Given the description of an element on the screen output the (x, y) to click on. 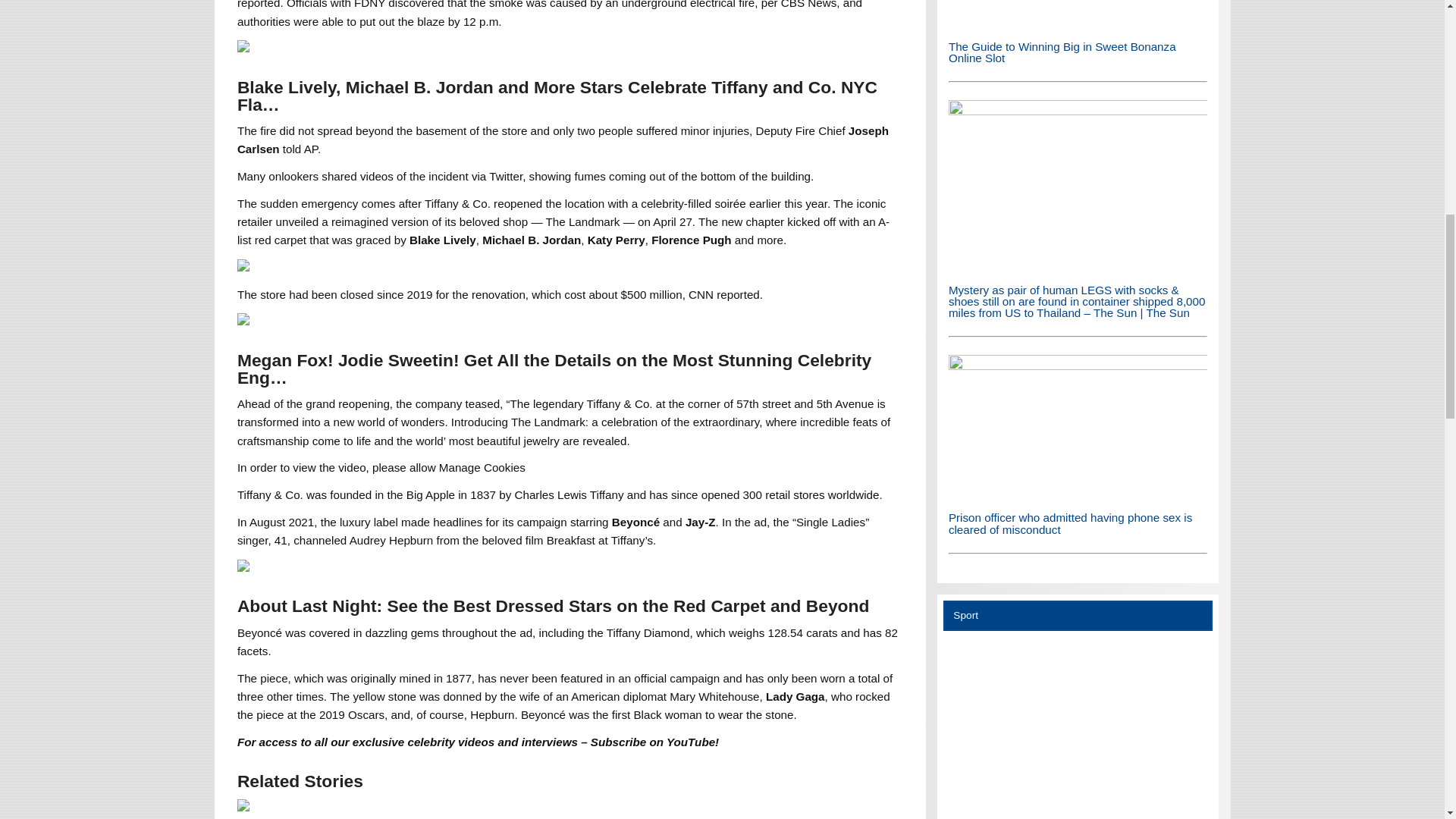
The Guide to Winning Big in Sweet Bonanza Online Slot (1062, 52)
The Guide to Winning Big in Sweet Bonanza Online Slot (1078, 13)
The Guide to Winning Big in Sweet Bonanza Online Slot (1078, 23)
